Given the description of an element on the screen output the (x, y) to click on. 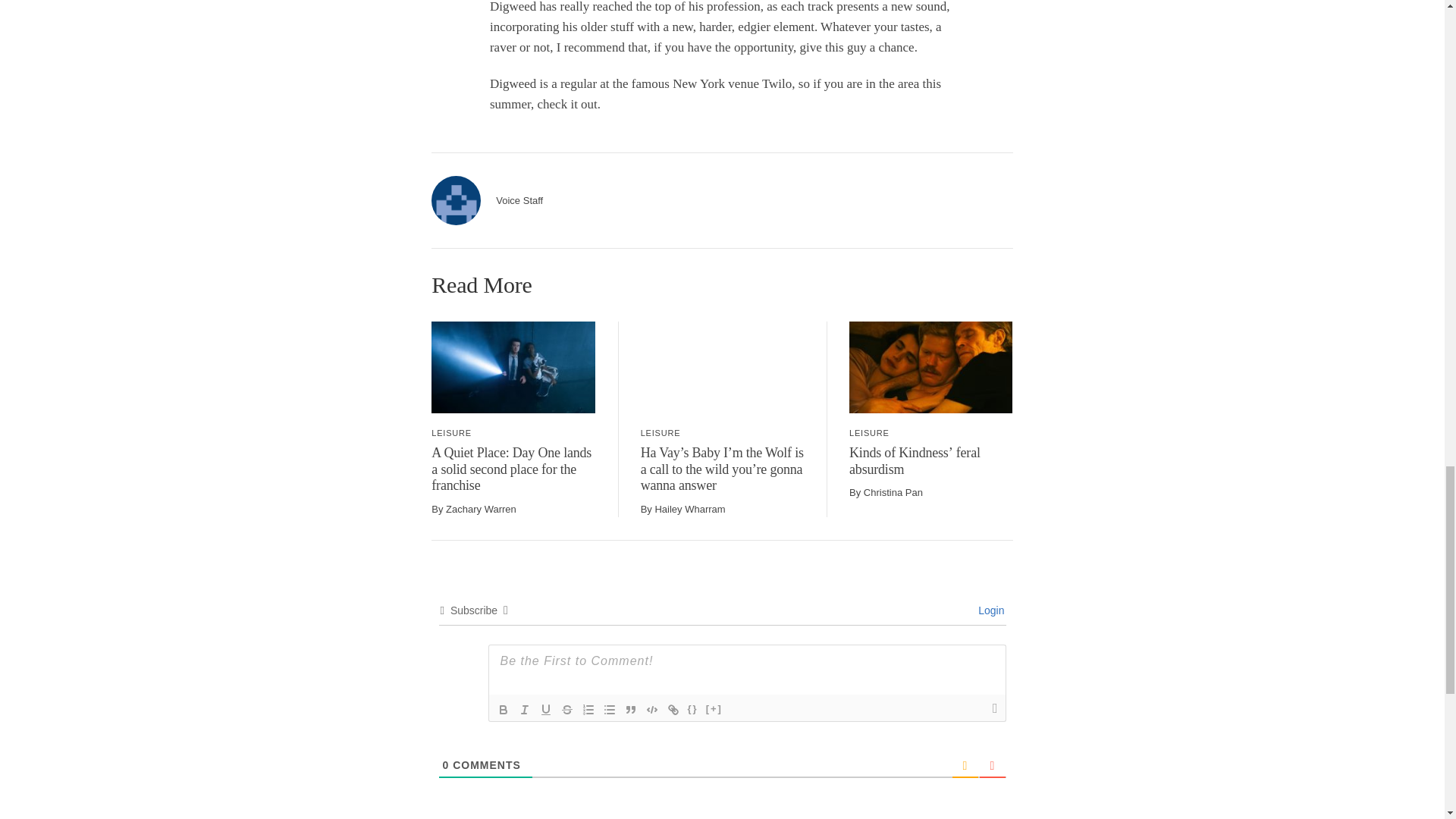
Bold (503, 710)
Link (673, 710)
Posts by Christina Pan (893, 491)
Spoiler (713, 710)
Unordered List (609, 710)
Posts by Hailey Wharram (689, 509)
Blockquote (631, 710)
Italic (524, 710)
Ordered List (588, 710)
Strike (567, 710)
Source Code (692, 710)
Underline (545, 710)
Posts by Zachary Warren (480, 509)
Code Block (652, 710)
